Given the description of an element on the screen output the (x, y) to click on. 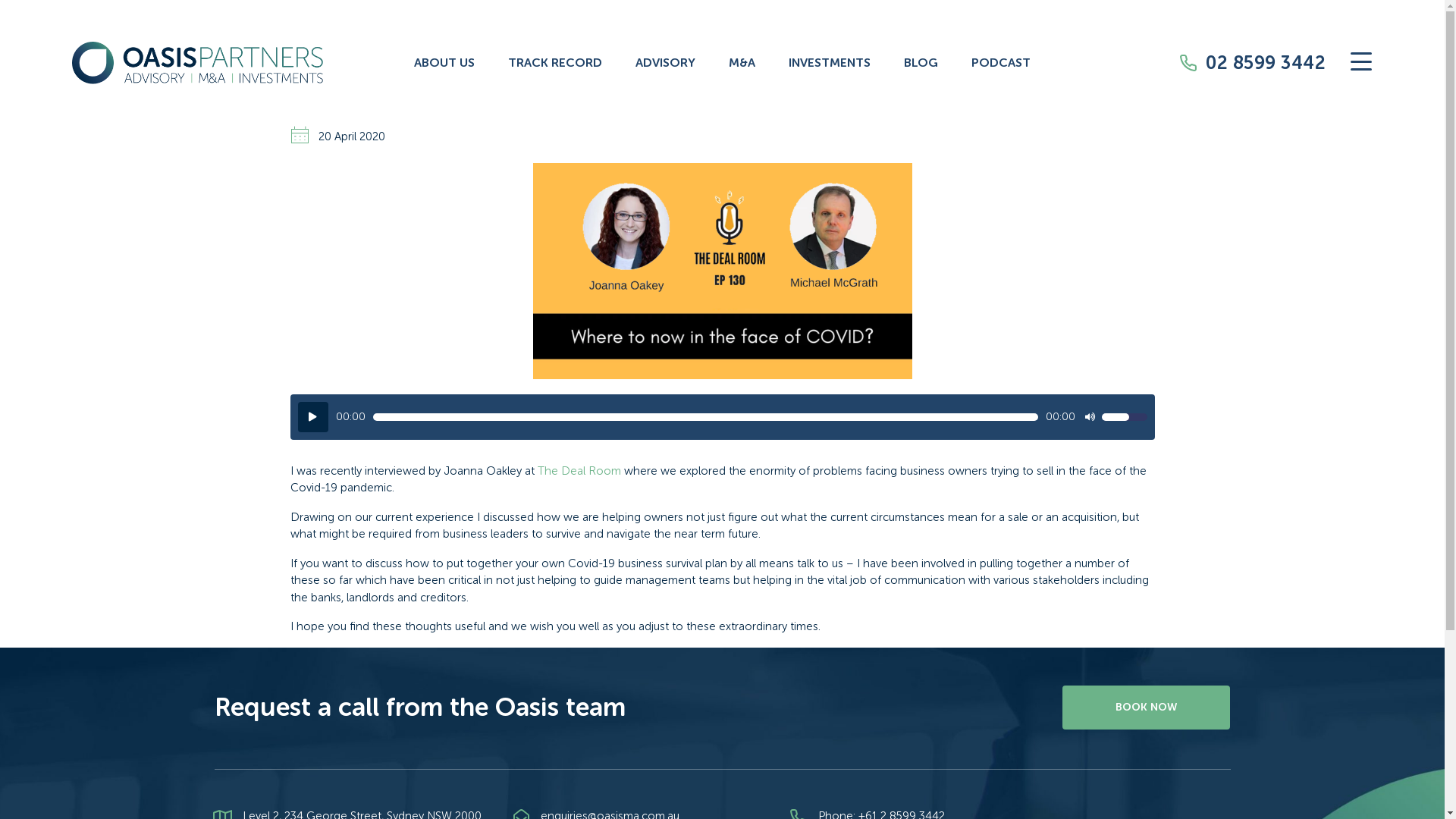
Mute Element type: hover (1089, 416)
TRACK RECORD Element type: text (554, 63)
ADVISORY Element type: text (665, 63)
The Deal Room Element type: text (578, 470)
INVESTMENTS Element type: text (829, 63)
Play Element type: hover (312, 416)
PODCAST Element type: text (1000, 63)
Use Up/Down Arrow keys to increase or decrease volume. Element type: text (1123, 416)
BLOG Element type: text (920, 63)
BOOK NOW Element type: text (1146, 707)
M&A Element type: text (741, 63)
ABOUT US Element type: text (444, 63)
